Given the description of an element on the screen output the (x, y) to click on. 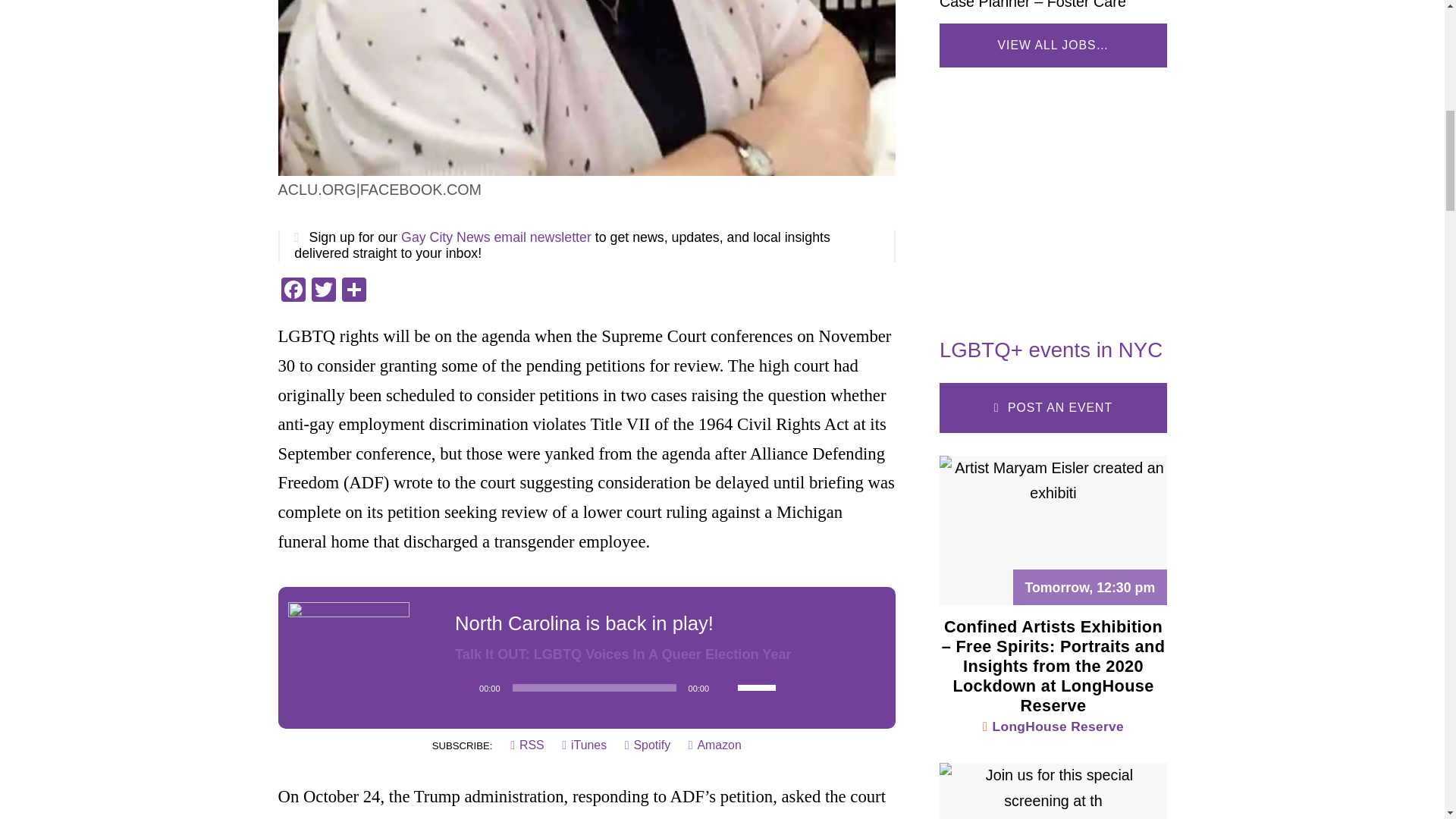
Mute (725, 687)
Twitter (322, 291)
Facebook (292, 291)
Play (462, 687)
